Given the description of an element on the screen output the (x, y) to click on. 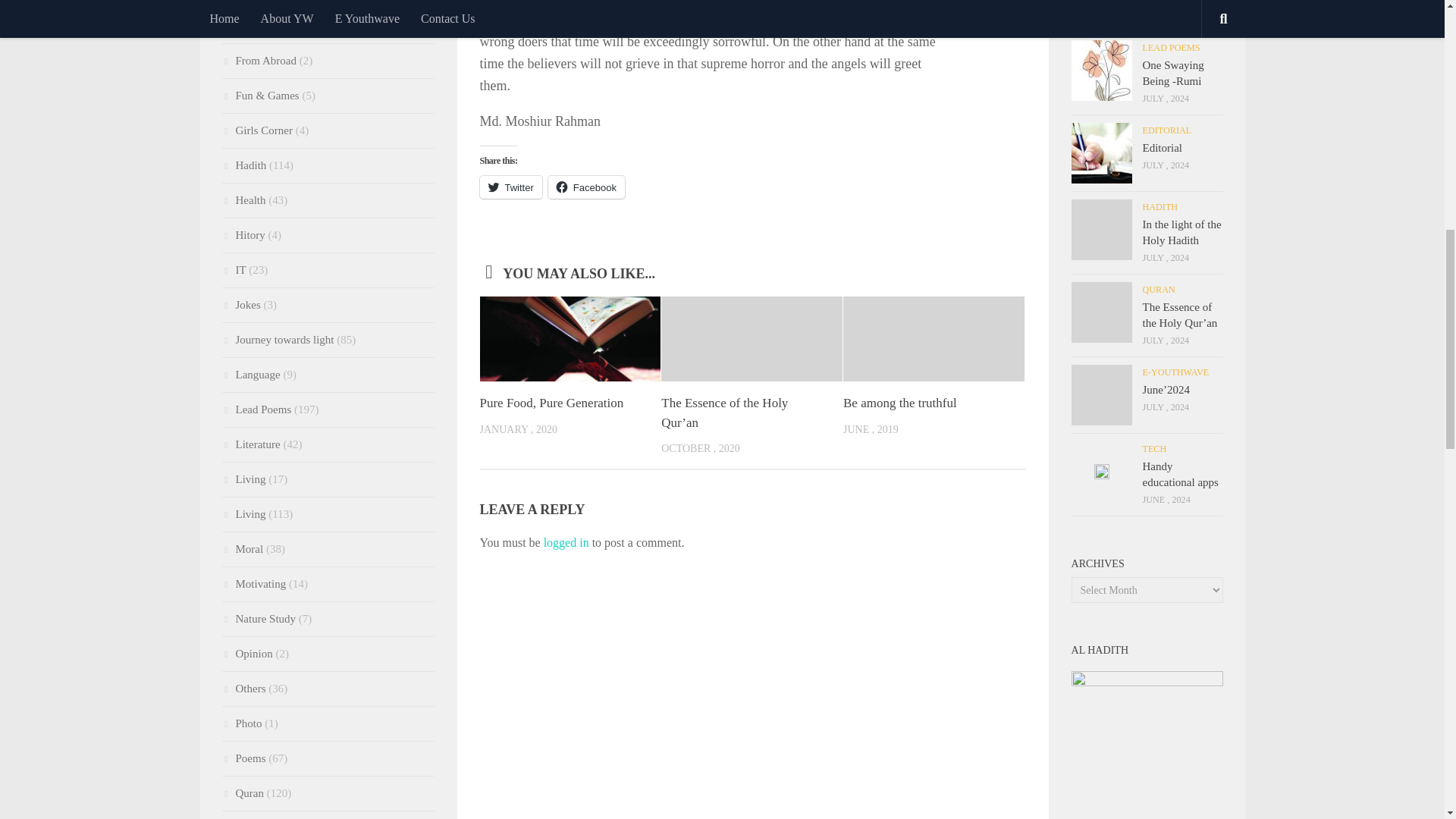
Click to share on Twitter (510, 187)
Click to share on Facebook (586, 187)
